Given the description of an element on the screen output the (x, y) to click on. 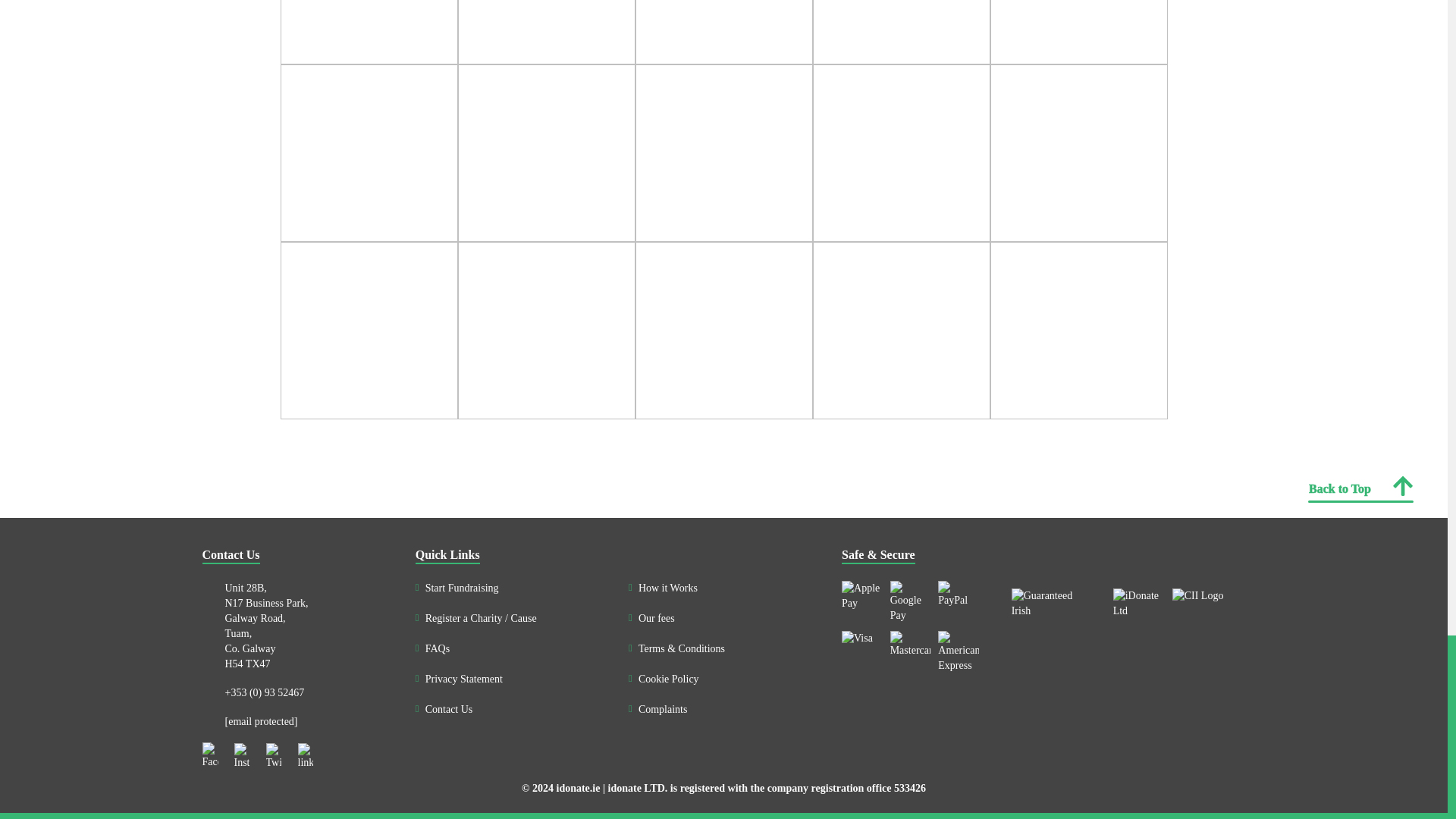
Google Pay (910, 601)
Apple Pay (861, 595)
PayPal (957, 594)
